Given the description of an element on the screen output the (x, y) to click on. 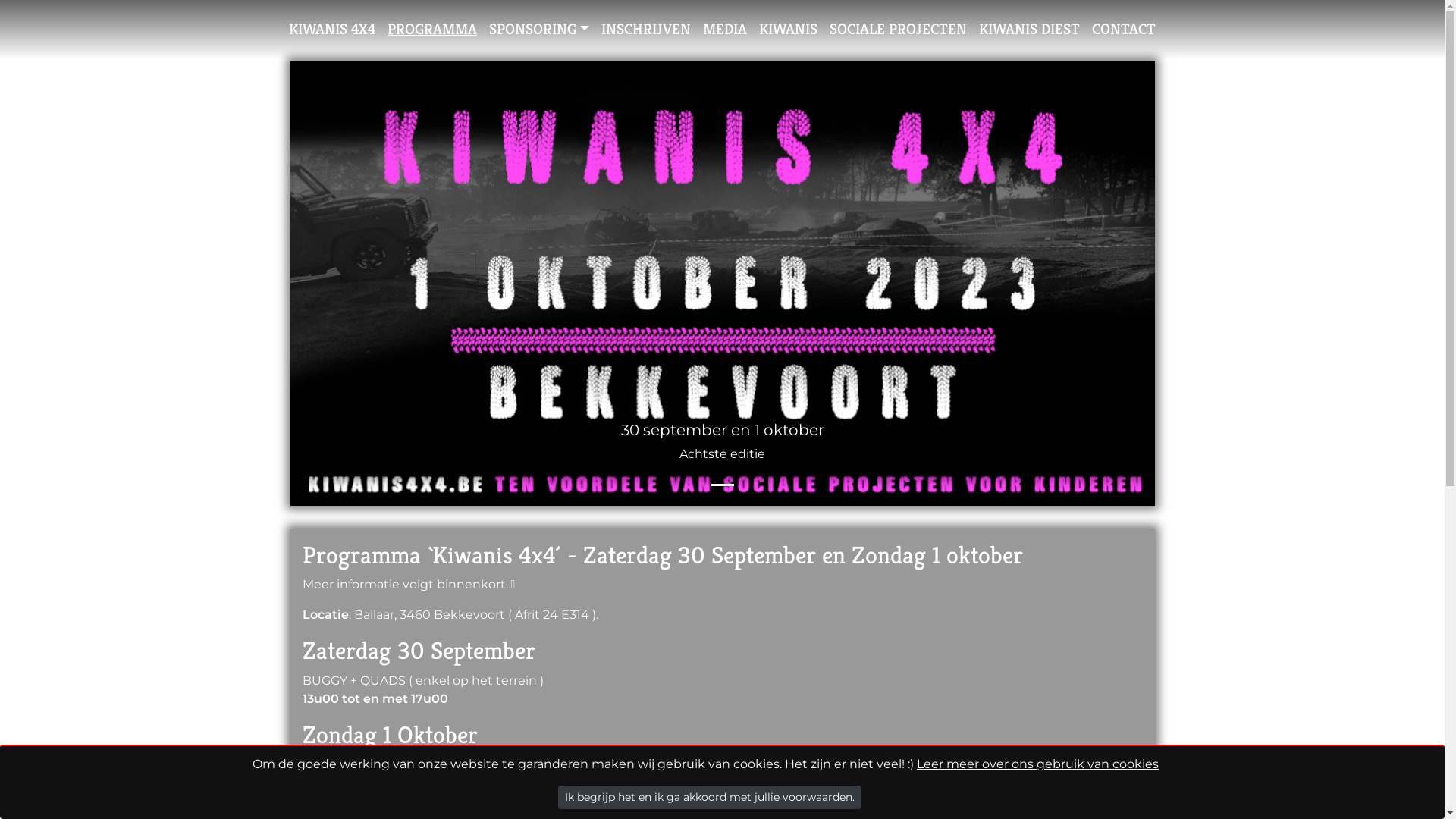
KIWANIS 4X4 Element type: text (331, 29)
MEDIA Element type: text (724, 29)
SOCIALE PROJECTEN Element type: text (897, 29)
Leer meer over ons gebruik van cookies Element type: text (1037, 763)
Ik begrijp het en ik ga akkoord met jullie voorwaarden. Element type: text (709, 797)
PROGRAMMA Element type: text (432, 29)
INSCHRIJVEN Element type: text (645, 29)
SPONSORING Element type: text (539, 29)
KIWANIS Element type: text (788, 29)
CONTACT Element type: text (1123, 29)
KIWANIS DIEST Element type: text (1028, 29)
